Given the description of an element on the screen output the (x, y) to click on. 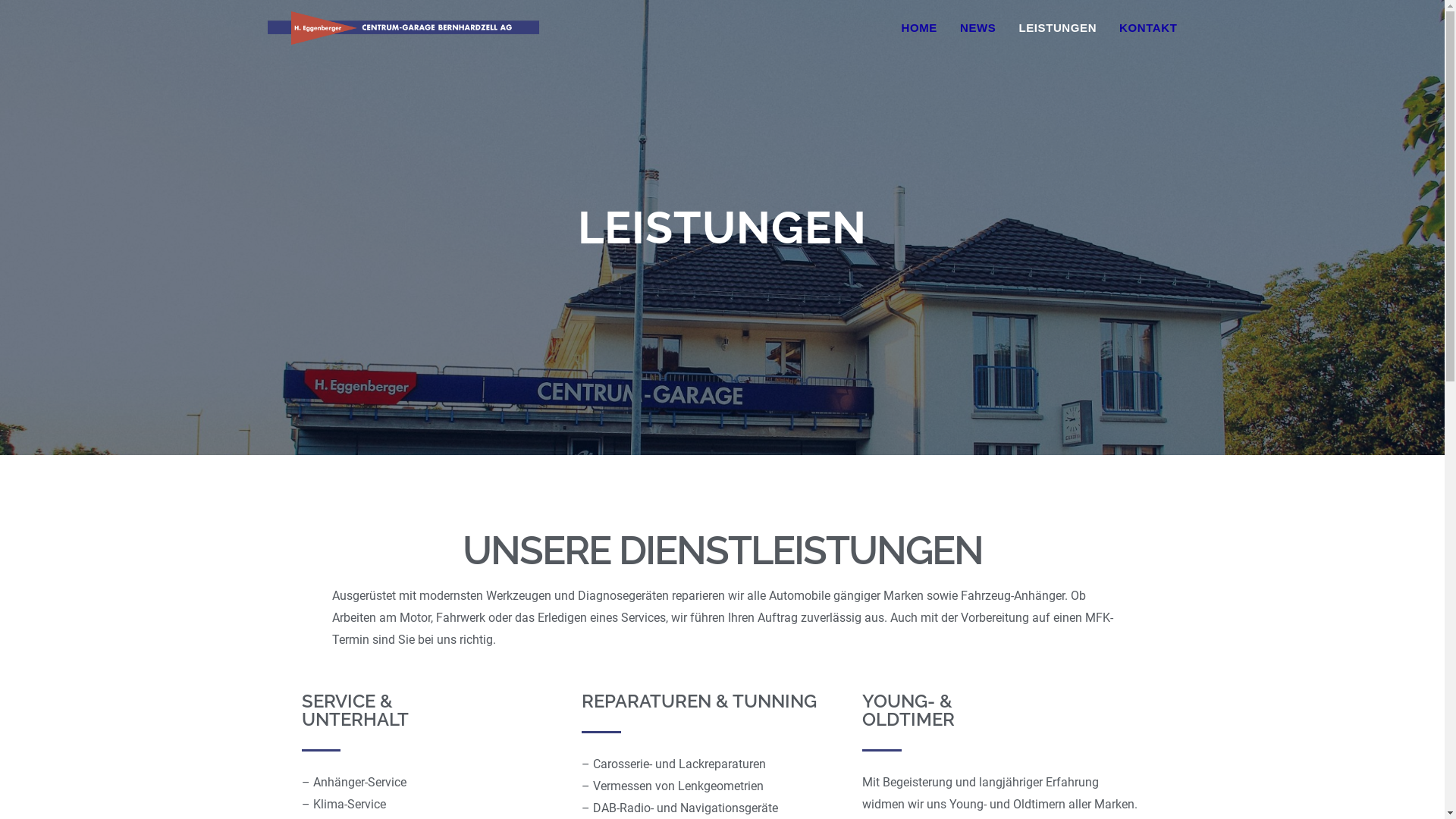
HOME Element type: text (919, 28)
NEWS Element type: text (977, 28)
LEISTUNGEN Element type: text (1057, 28)
KONTAKT Element type: text (1147, 28)
